Given the description of an element on the screen output the (x, y) to click on. 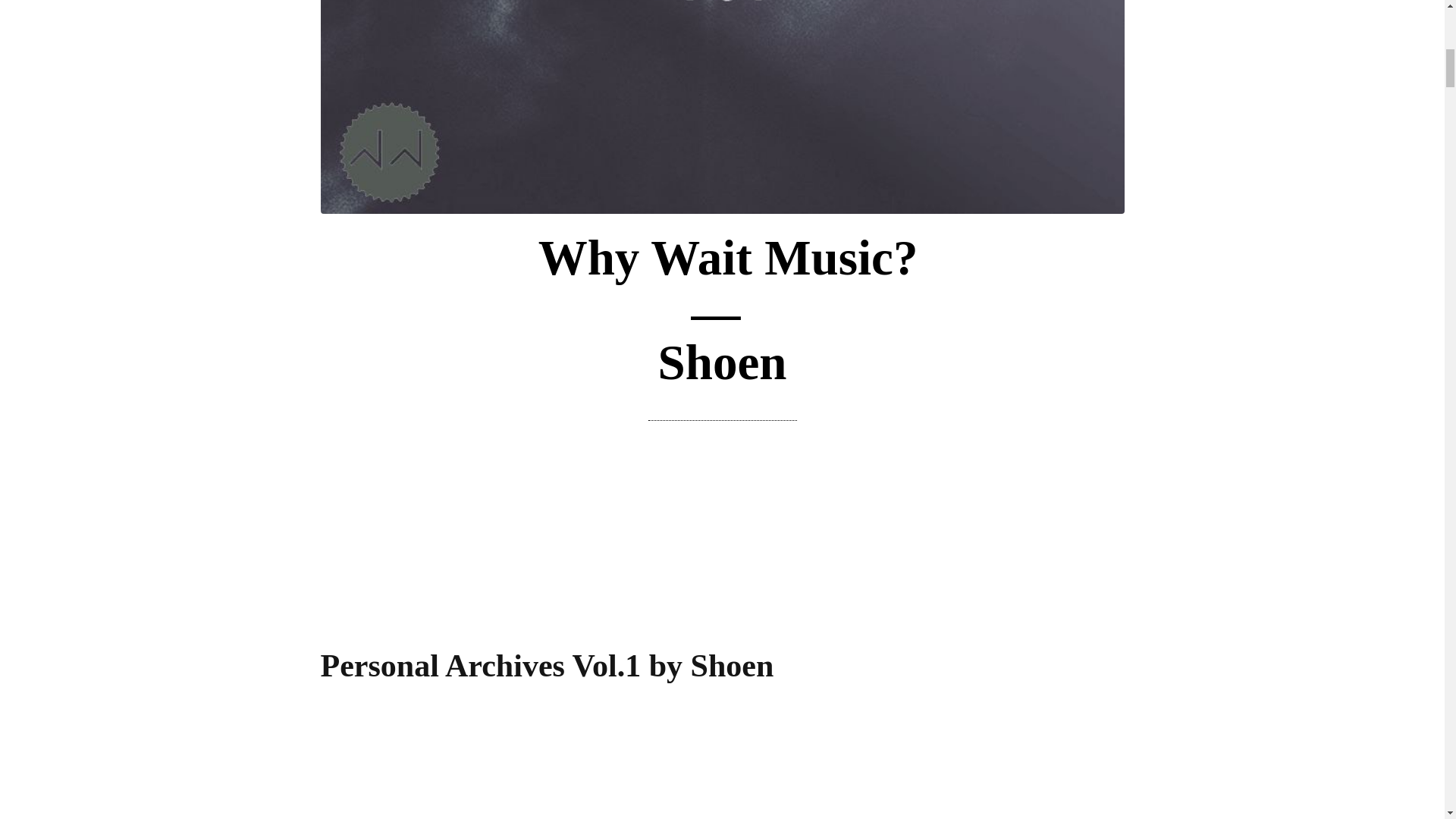
Personal Archives Vol.1 by Shoen (546, 664)
Personal Archives Vol.1 by Shoen (546, 664)
